Given the description of an element on the screen output the (x, y) to click on. 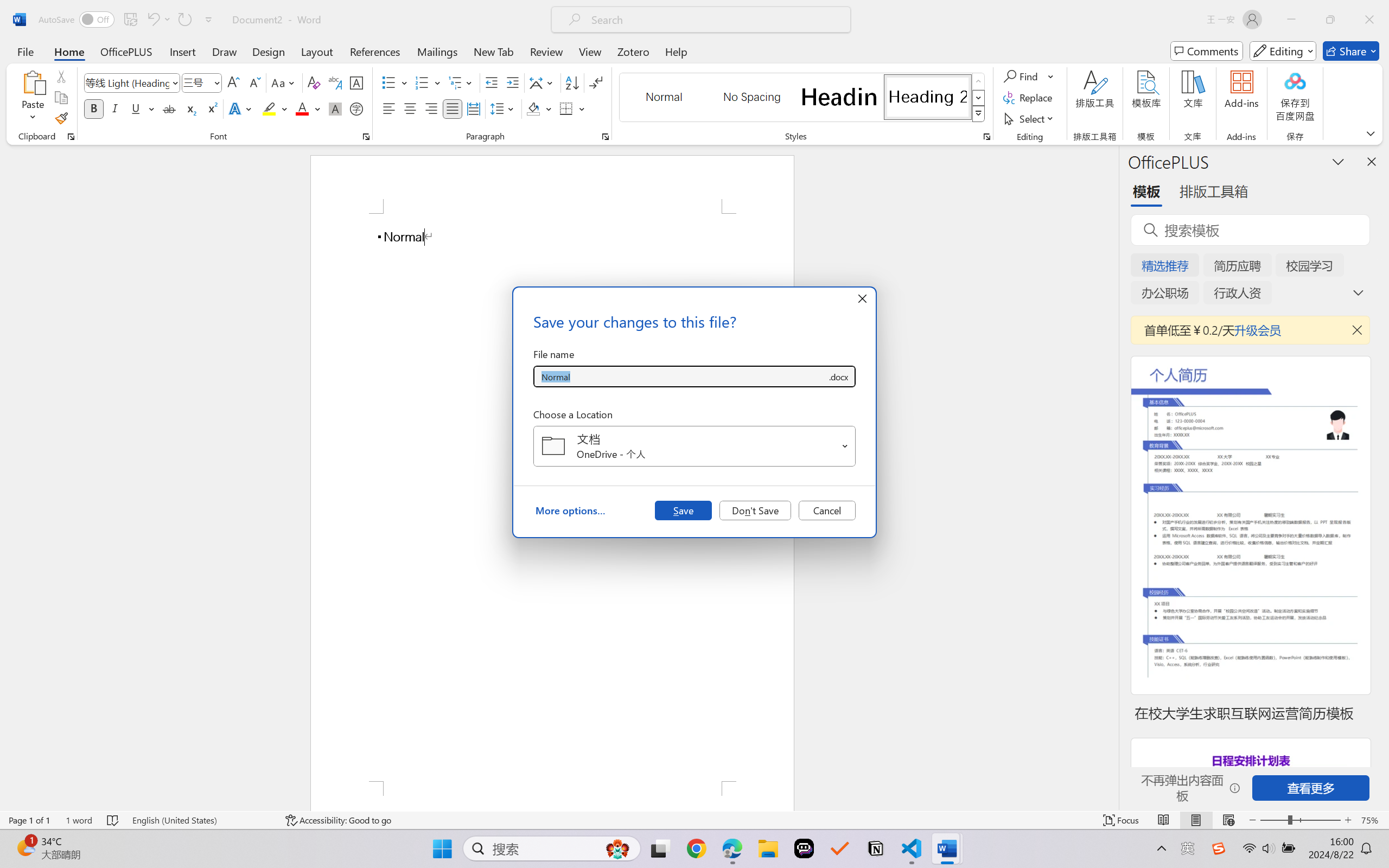
Numbering (428, 82)
New Tab (493, 51)
Font Color Red (302, 108)
Task Pane Options (1338, 161)
Restore Down (1330, 19)
View (589, 51)
Undo Typing (158, 19)
Character Border (356, 82)
Class: NetUIScrollBar (1111, 477)
Accessibility Checker Accessibility: Good to go (338, 819)
Font (132, 82)
AutoSave (76, 19)
